Given the description of an element on the screen output the (x, y) to click on. 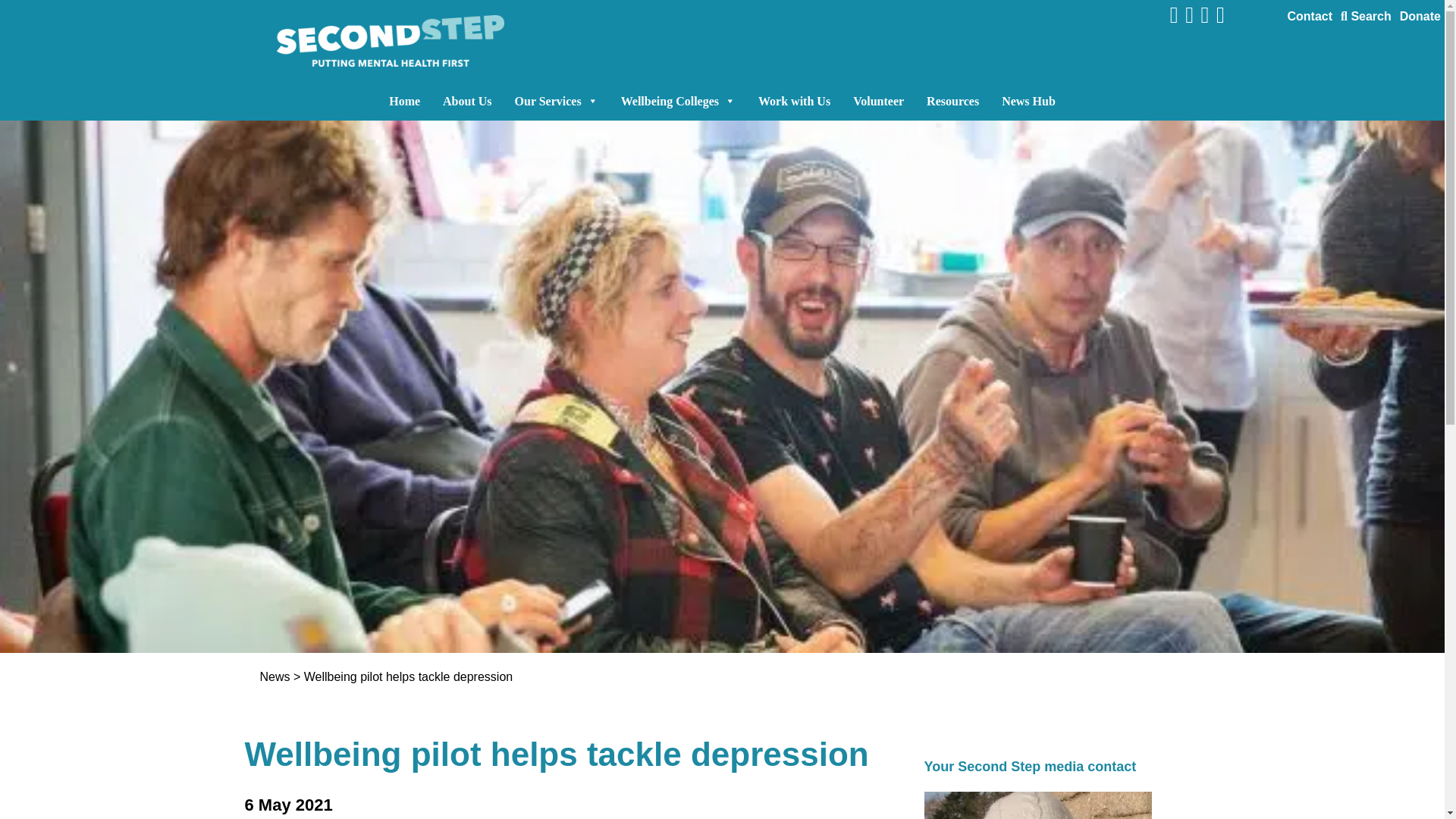
Contact (1309, 16)
Wellbeing pilot helps tackle depression (408, 676)
News  (275, 676)
Volunteer (878, 100)
Our Services (556, 100)
Wellbeing Colleges (678, 100)
News Hub (1028, 100)
About Us (466, 100)
Resources (952, 100)
Wellbeing pilot helps tackle depression (408, 676)
